Given the description of an element on the screen output the (x, y) to click on. 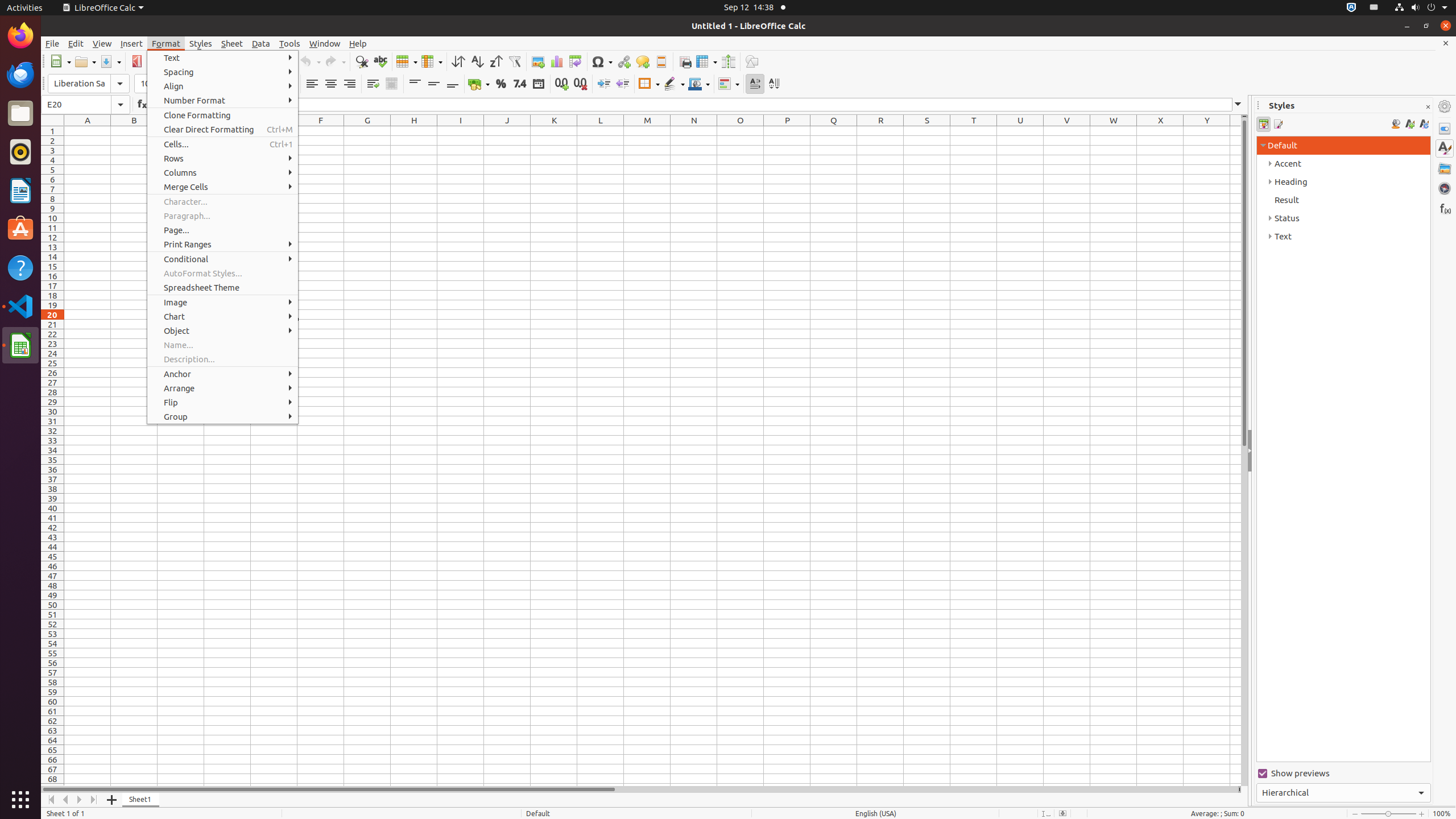
Horizontal scroll bar Element type: scroll-bar (639, 789)
File Element type: menu (51, 43)
Split Window Element type: push-button (727, 61)
Align Right Element type: push-button (349, 83)
Text direction from left to right Element type: toggle-button (754, 83)
